Given the description of an element on the screen output the (x, y) to click on. 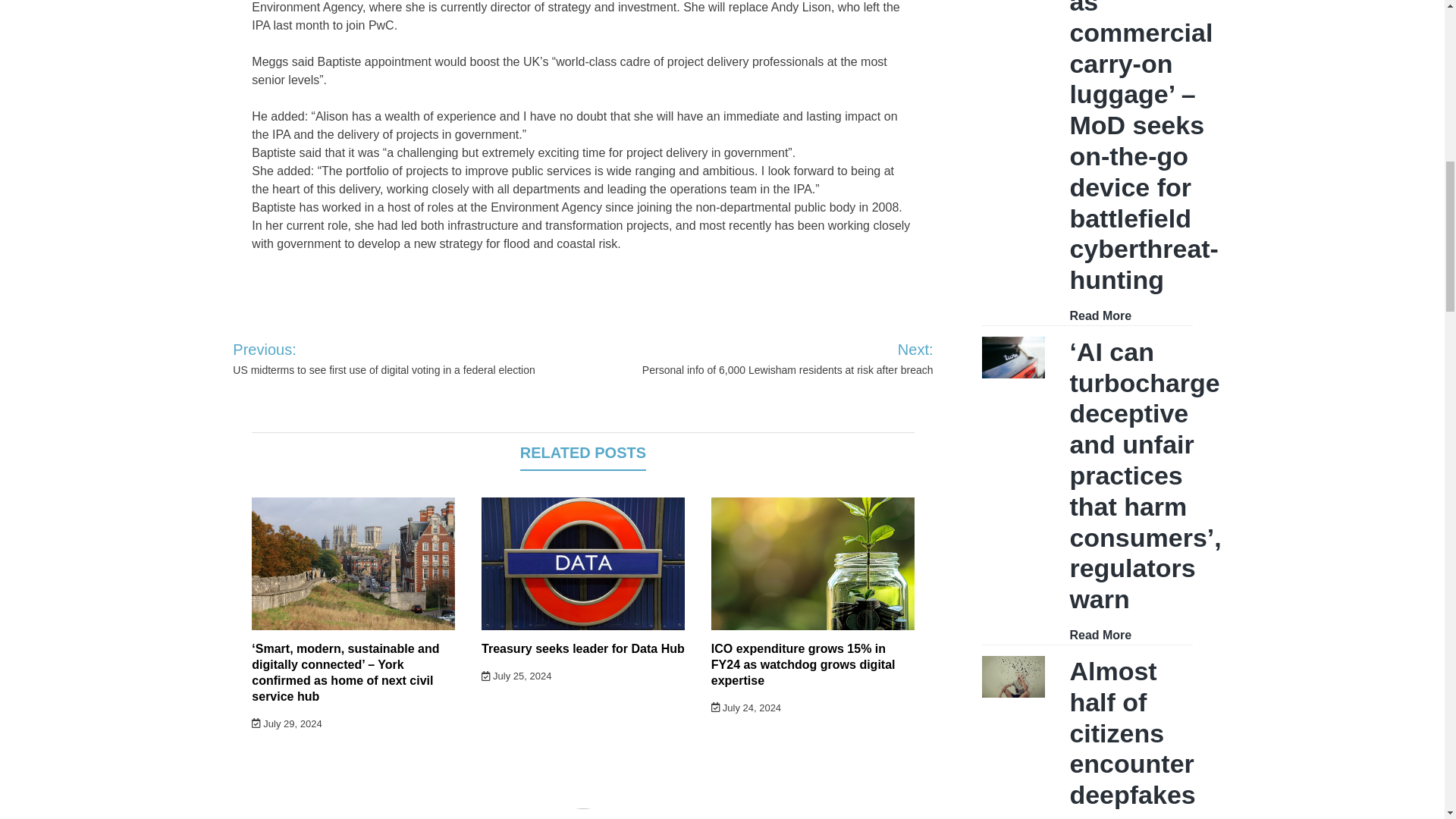
July 29, 2024 (286, 723)
Treasury seeks leader for Data Hub (582, 648)
